Given the description of an element on the screen output the (x, y) to click on. 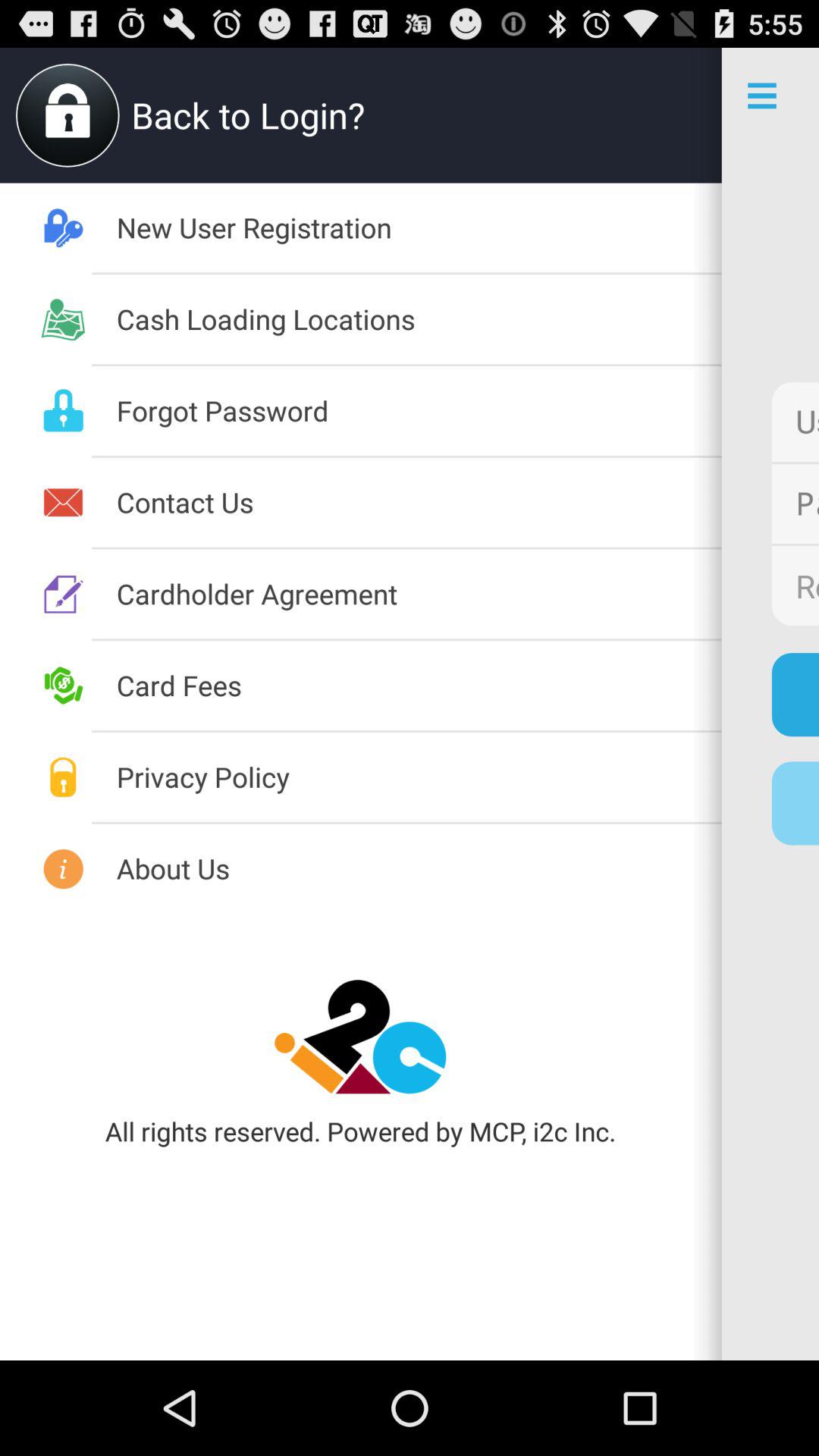
launch the item to the left of the new user registration item (418, 776)
